Given the description of an element on the screen output the (x, y) to click on. 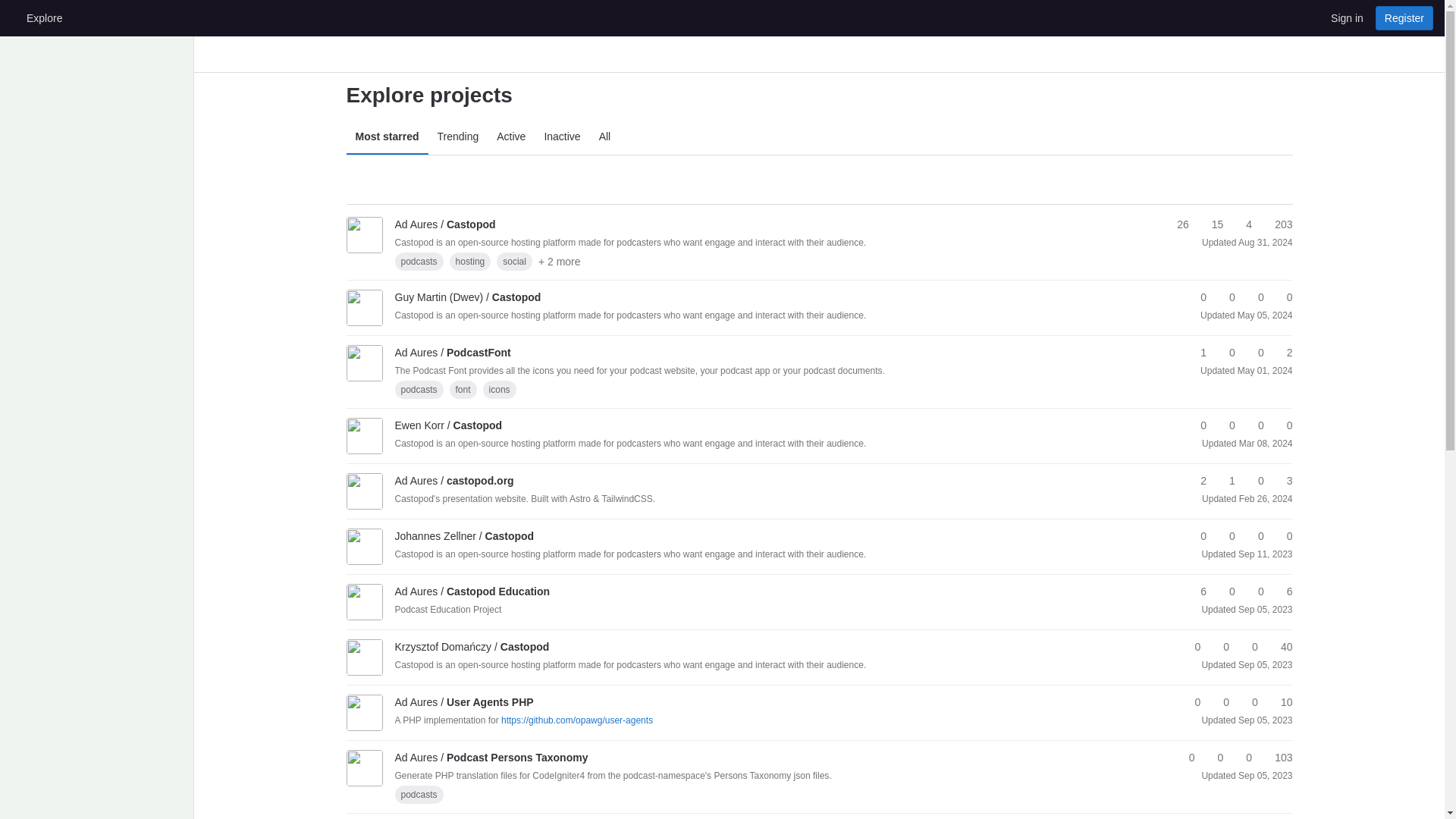
0 (1224, 297)
0 (1253, 352)
Merge requests (1241, 224)
0 (1282, 297)
0 (1196, 297)
Castopod (444, 224)
2 (1282, 352)
hosting (470, 261)
Issues (1276, 224)
icons (499, 389)
